Given the description of an element on the screen output the (x, y) to click on. 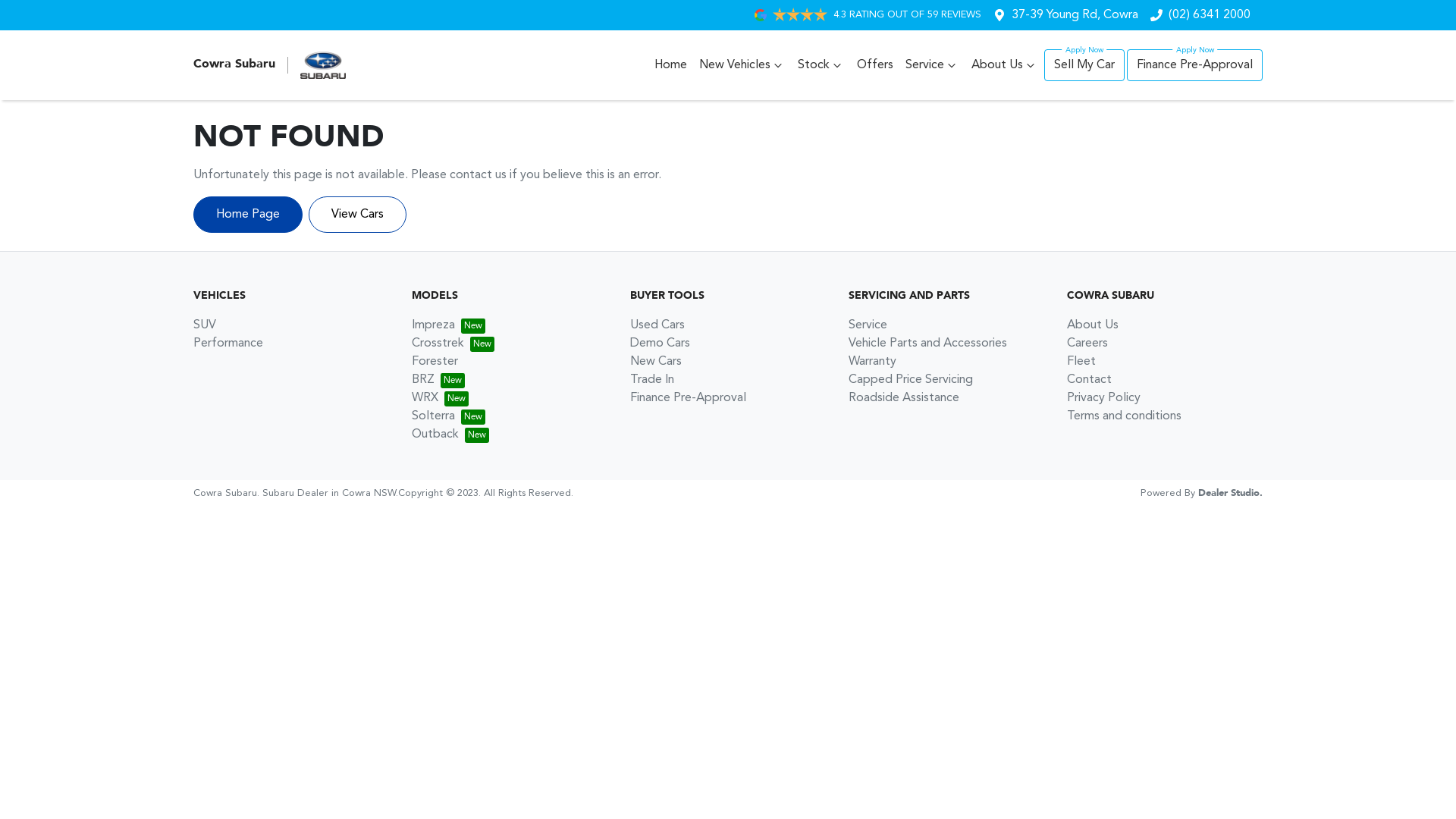
Fleet Element type: text (1080, 361)
Demo Cars Element type: text (660, 343)
Service Element type: text (932, 65)
Warranty Element type: text (872, 361)
Capped Price Servicing Element type: text (910, 379)
Used Cars Element type: text (657, 325)
Cowra Subaru Element type: text (269, 65)
Sell My Car Element type: text (1084, 65)
WRX Element type: text (439, 398)
Terms and conditions Element type: text (1123, 416)
New Vehicles Element type: text (742, 65)
Stock Element type: text (820, 65)
Finance Pre-Approval Element type: text (688, 398)
Privacy Policy Element type: text (1103, 398)
Finance Pre-Approval Element type: text (1194, 65)
Vehicle Parts and Accessories Element type: text (927, 343)
Offers Element type: text (874, 65)
About Us Element type: text (1004, 65)
Crosstrek Element type: text (452, 343)
About Us Element type: text (1092, 325)
Solterra Element type: text (448, 416)
SUV Element type: text (204, 325)
Forester Element type: text (434, 361)
Home Page Element type: text (247, 214)
(02) 6341 2000 Element type: text (1209, 15)
Contact Element type: text (1088, 379)
New Cars Element type: text (655, 361)
BRZ Element type: text (437, 379)
View Cars Element type: text (357, 214)
Impreza Element type: text (448, 325)
Dealer Studio. Element type: text (1230, 493)
Trade In Element type: text (652, 379)
Home Element type: text (670, 65)
Service Element type: text (867, 325)
37-39 Young Rd, Cowra Element type: text (1074, 15)
Performance Element type: text (228, 343)
Outback Element type: text (450, 434)
Roadside Assistance Element type: text (903, 398)
Careers Element type: text (1086, 343)
